Given the description of an element on the screen output the (x, y) to click on. 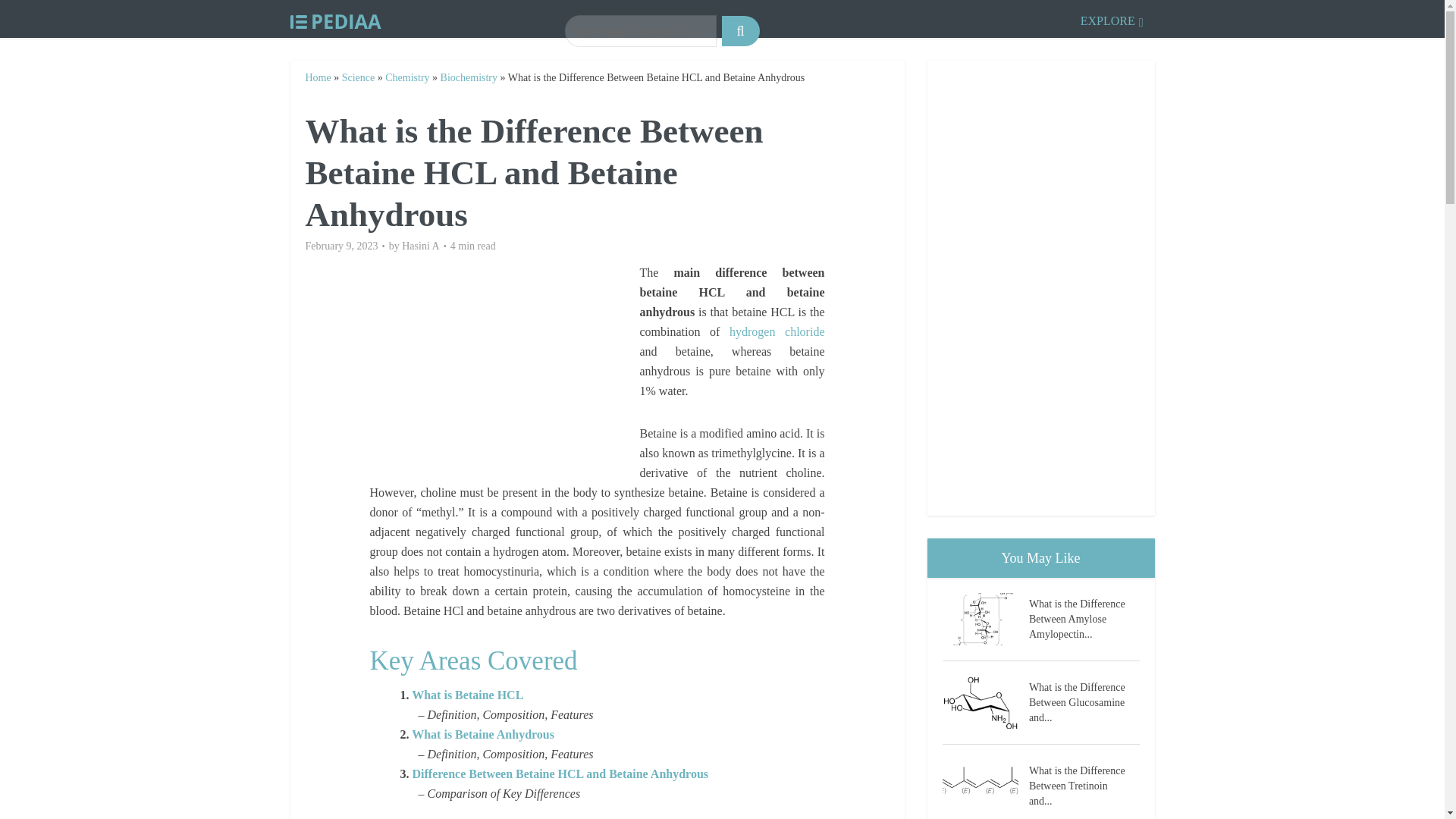
Hasini A (420, 246)
Advertisement (504, 368)
Home (317, 77)
Type here to search... (640, 30)
Type here to search... (640, 30)
Science (358, 77)
hydrogen chloride (776, 331)
Chemistry (407, 77)
Difference Between Betaine HCL and Betaine Anhydrous (560, 773)
What is Betaine HCL (467, 694)
EXPLORE (1111, 18)
What is Betaine Anhydrous (483, 734)
What is the Difference Between Tretinoin and Isotretinoin (984, 786)
